Given the description of an element on the screen output the (x, y) to click on. 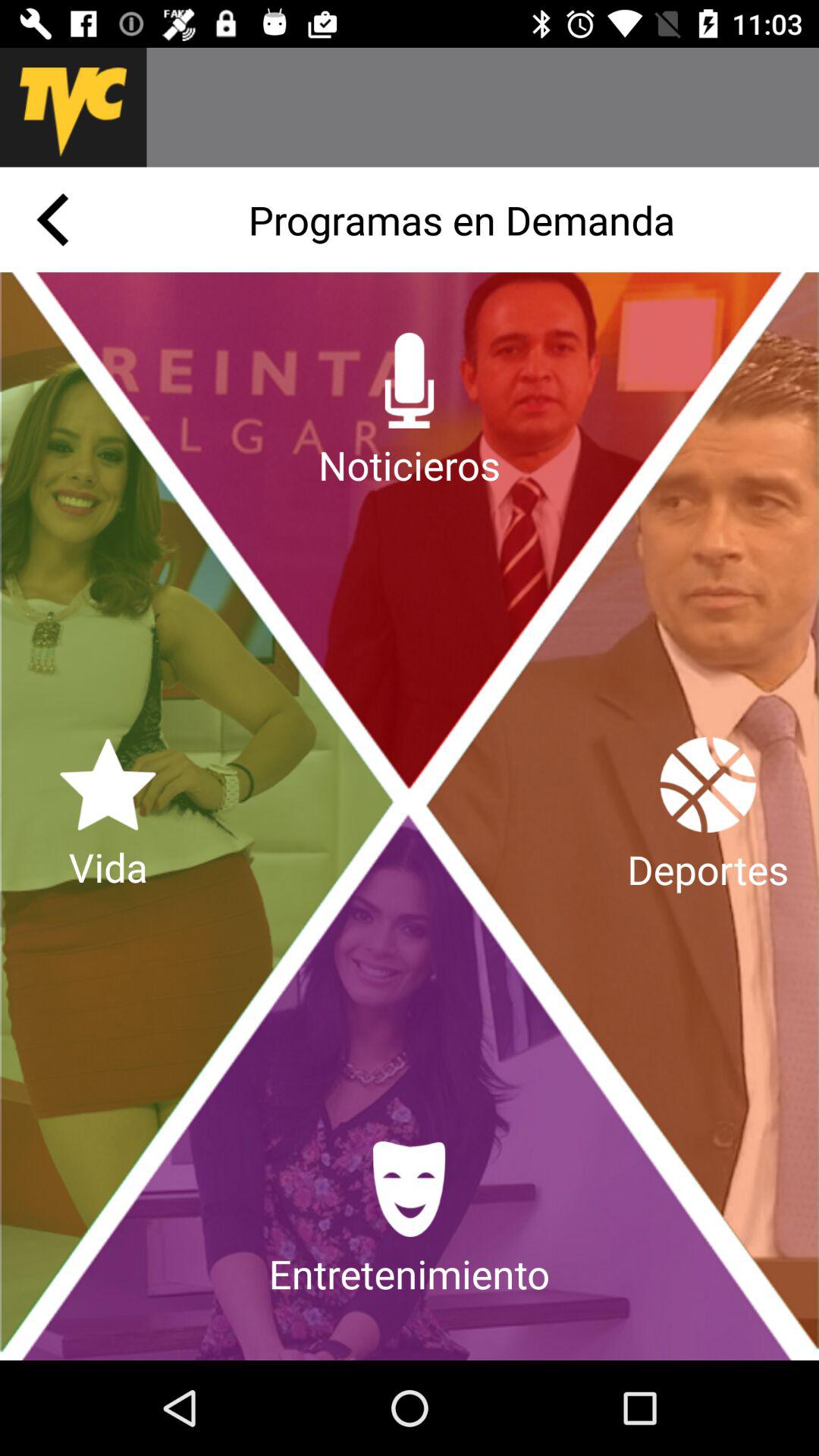
go to previous (52, 219)
